Given the description of an element on the screen output the (x, y) to click on. 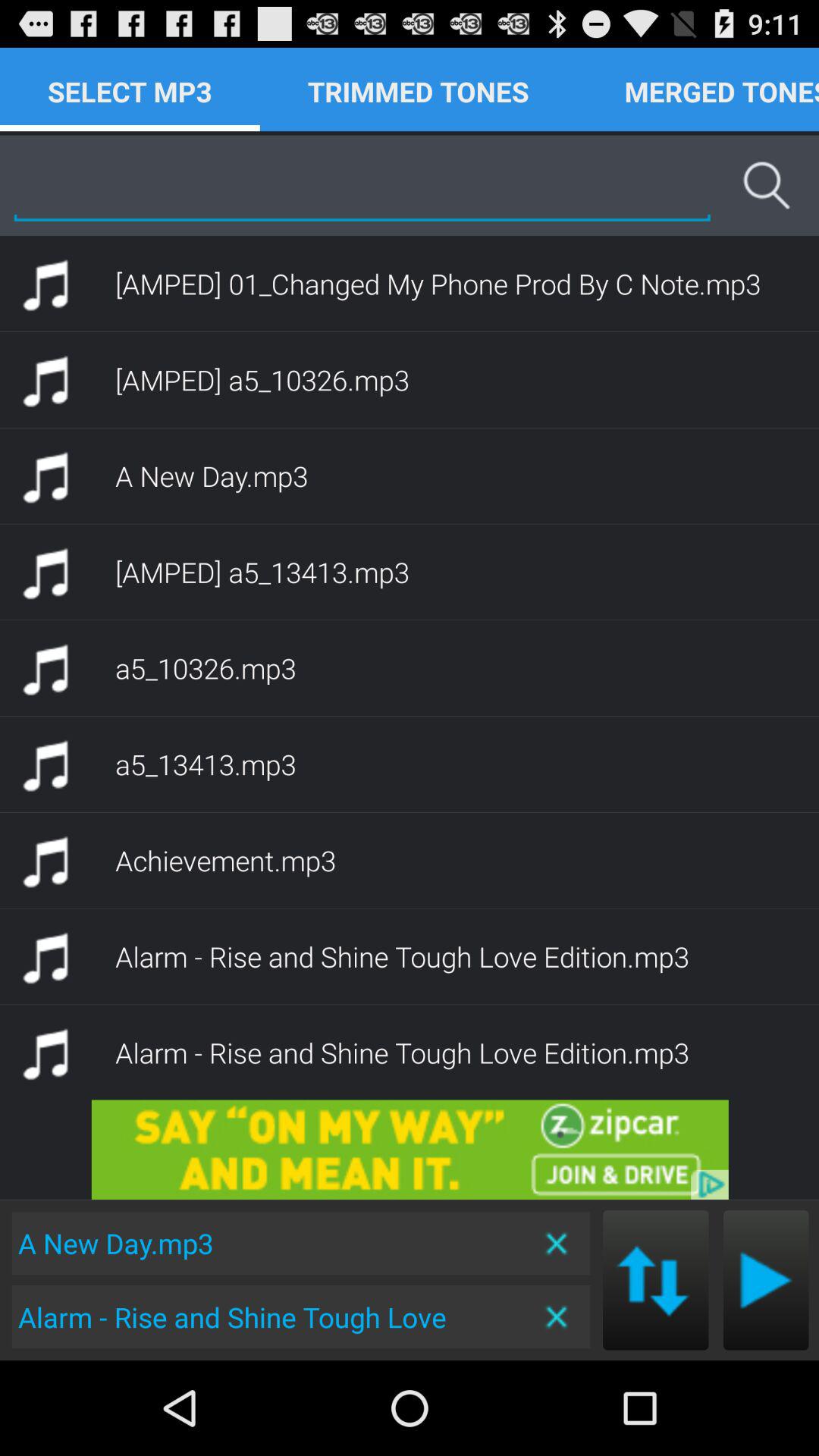
advertisement area (409, 1149)
